Given the description of an element on the screen output the (x, y) to click on. 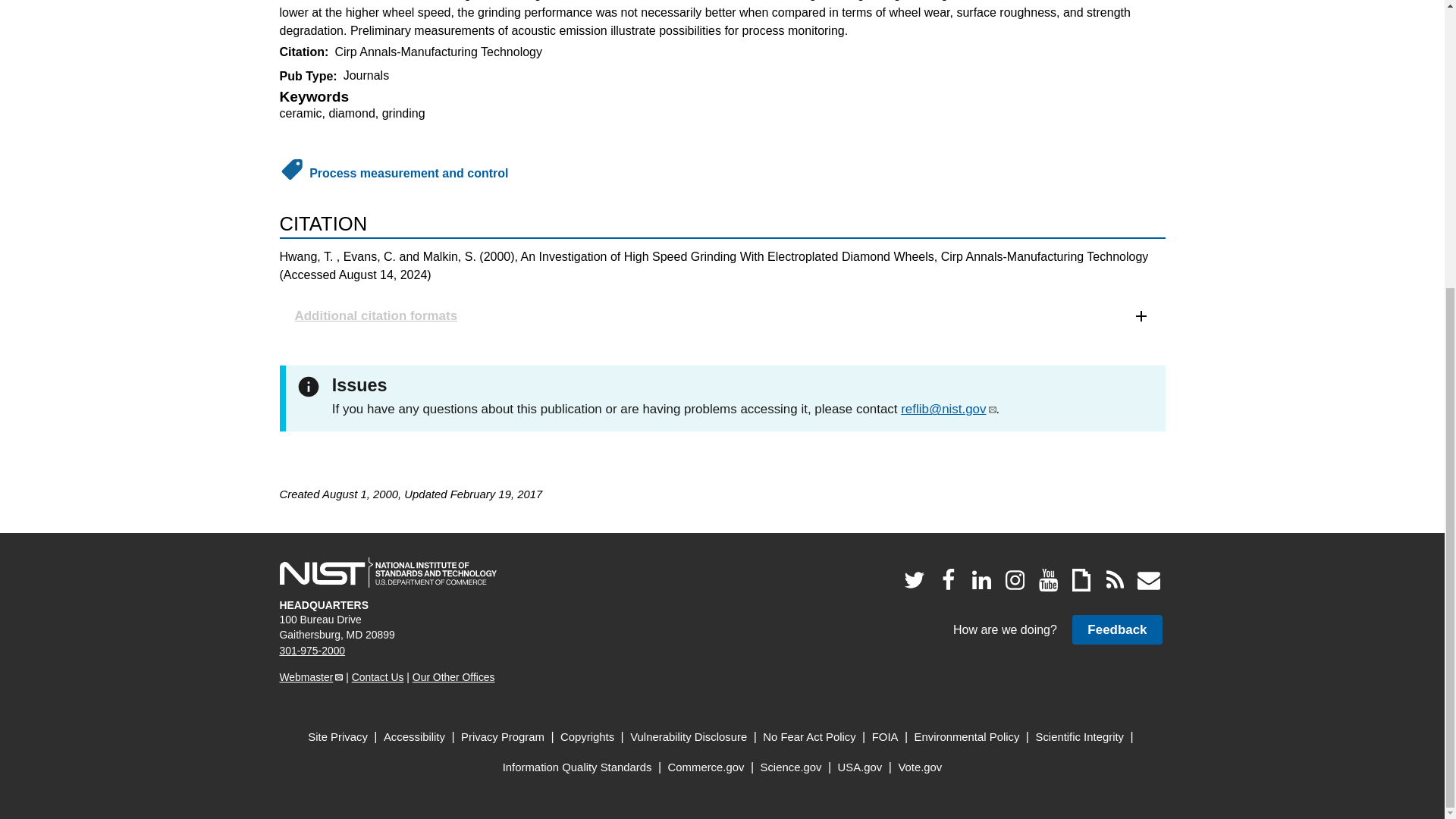
Site Privacy (337, 736)
Feedback (1116, 629)
301-975-2000 (312, 650)
Contact Us (378, 676)
Copyrights (587, 736)
Vulnerability Disclosure (688, 736)
Process measurement and control (408, 173)
Provide feedback (1116, 629)
Environmental Policy (967, 736)
National Institute of Standards and Technology (387, 572)
